Given the description of an element on the screen output the (x, y) to click on. 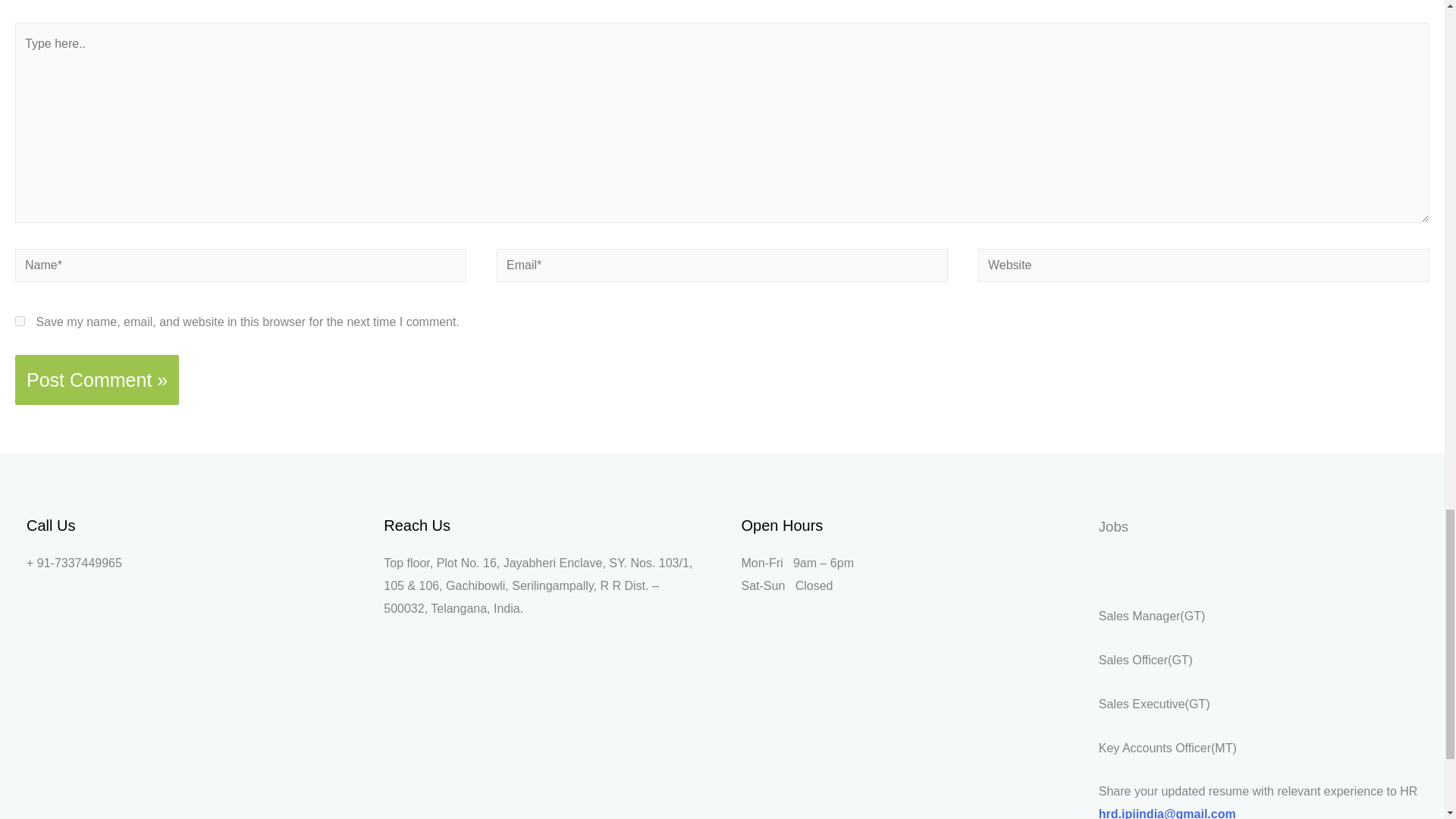
yes (19, 320)
